Given the description of an element on the screen output the (x, y) to click on. 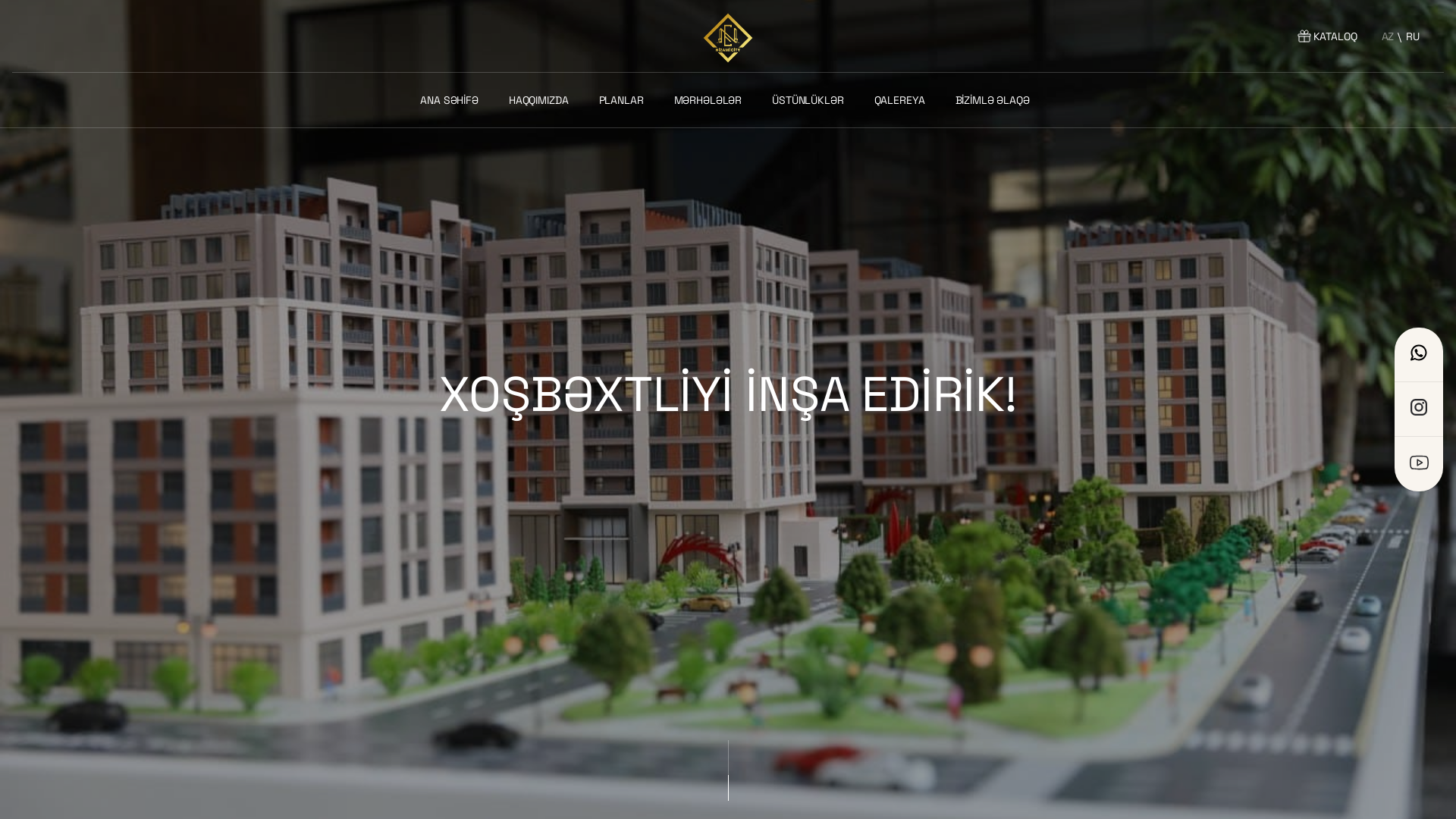
AZ Element type: text (1387, 35)
PLANLAR Element type: text (624, 99)
RU Element type: text (1412, 35)
KATALOQ Element type: text (1326, 36)
HAQQIMIZDA Element type: text (541, 99)
QALEREYA Element type: text (902, 99)
